Given the description of an element on the screen output the (x, y) to click on. 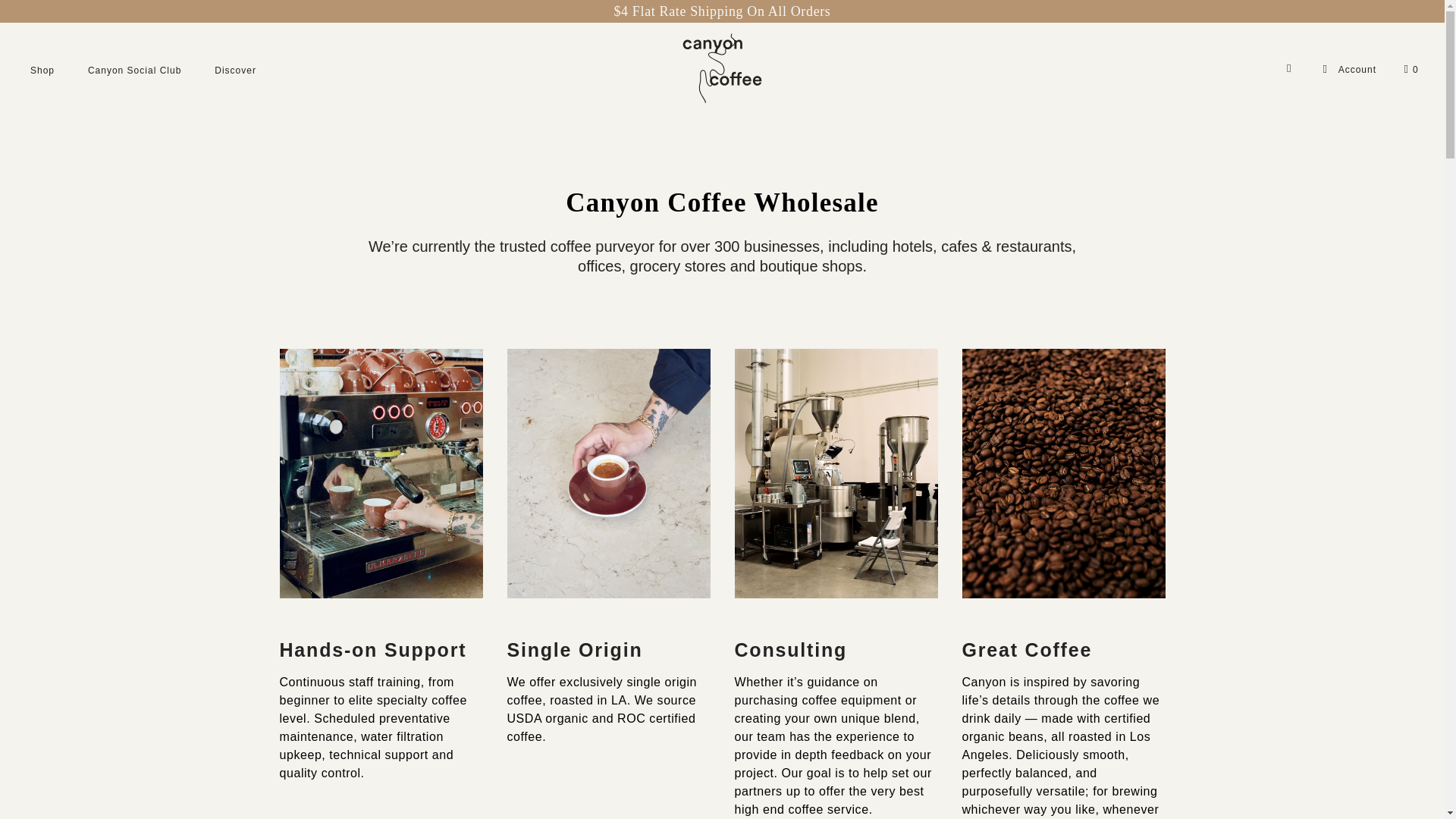
Account (1348, 69)
My Account  (1348, 69)
Canyon Coffee (721, 70)
